Given the description of an element on the screen output the (x, y) to click on. 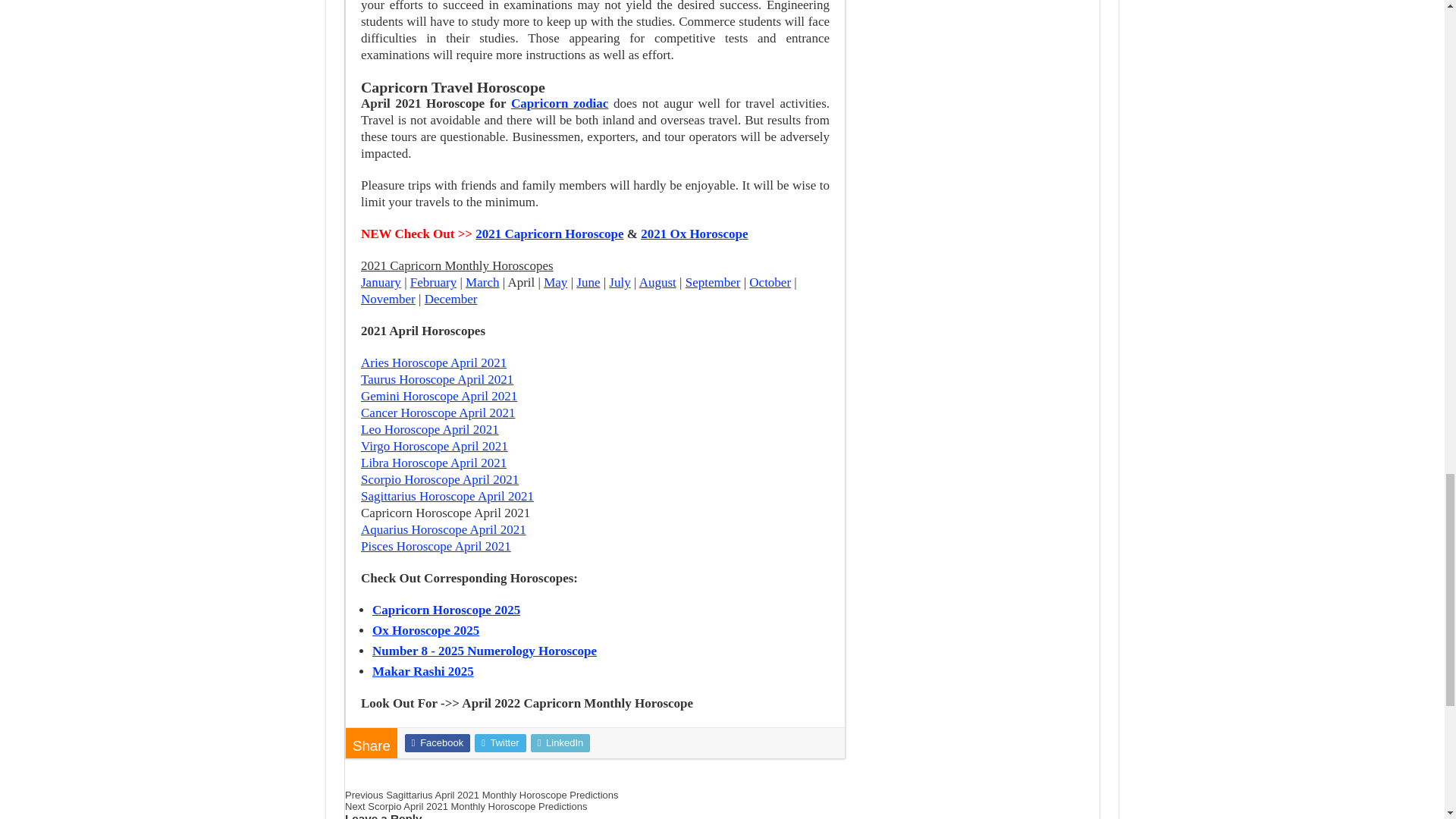
2021 Capricorn Horoscope (549, 233)
capricorn February 2021 Horoscope (433, 282)
October (769, 282)
August (658, 282)
Taurus Horoscope April 2021 (437, 379)
2021 Ox Horoscope (694, 233)
July (619, 282)
March (482, 282)
Capricorn zodiac (559, 103)
November (387, 298)
